Given the description of an element on the screen output the (x, y) to click on. 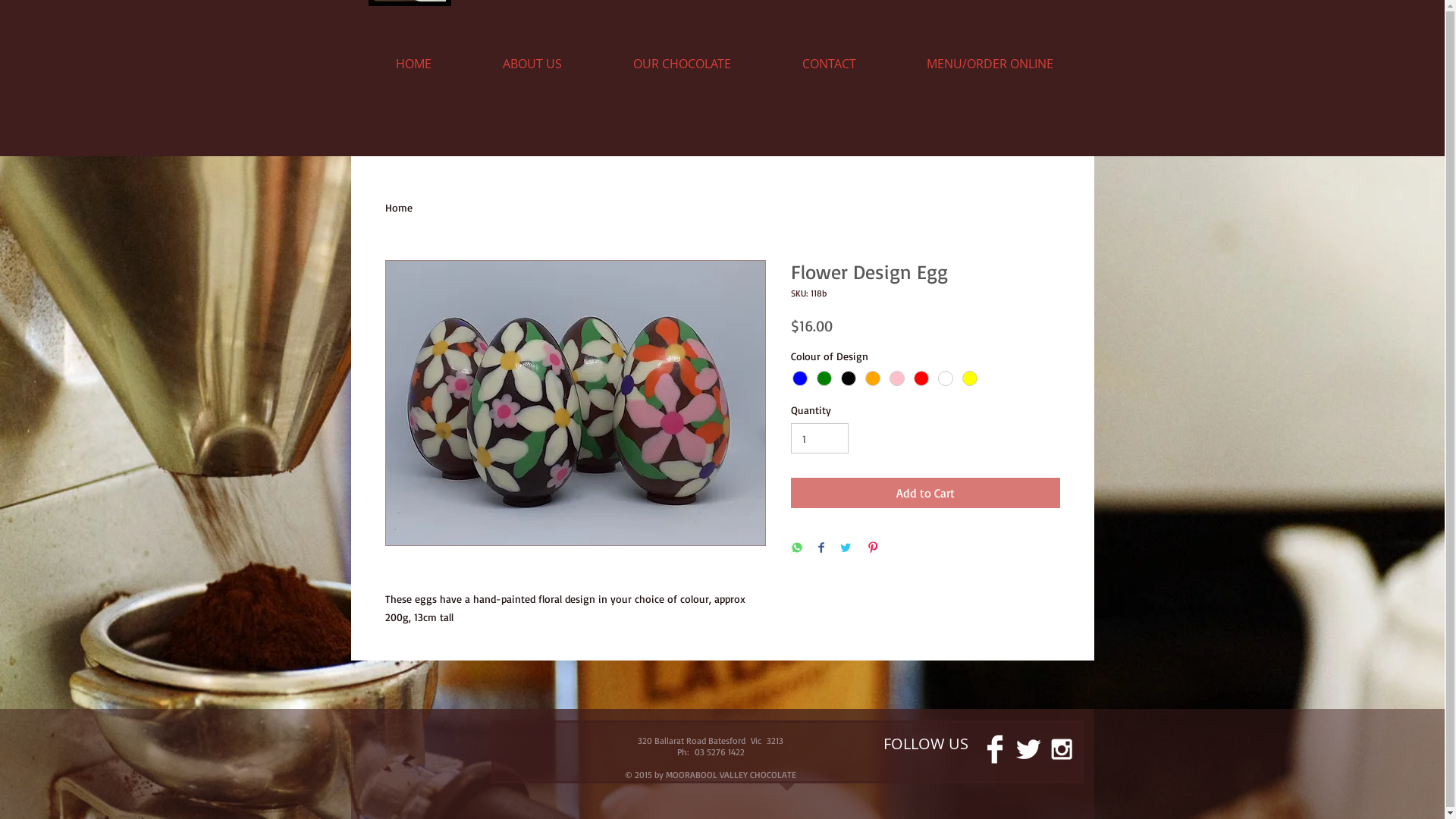
Add to Cart Element type: text (924, 492)
OUR CHOCOLATE Element type: text (681, 63)
HOME Element type: text (413, 63)
MENU/ORDER ONLINE Element type: text (989, 63)
ABOUT US Element type: text (531, 63)
CONTACT Element type: text (828, 63)
Home Element type: text (398, 206)
